Given the description of an element on the screen output the (x, y) to click on. 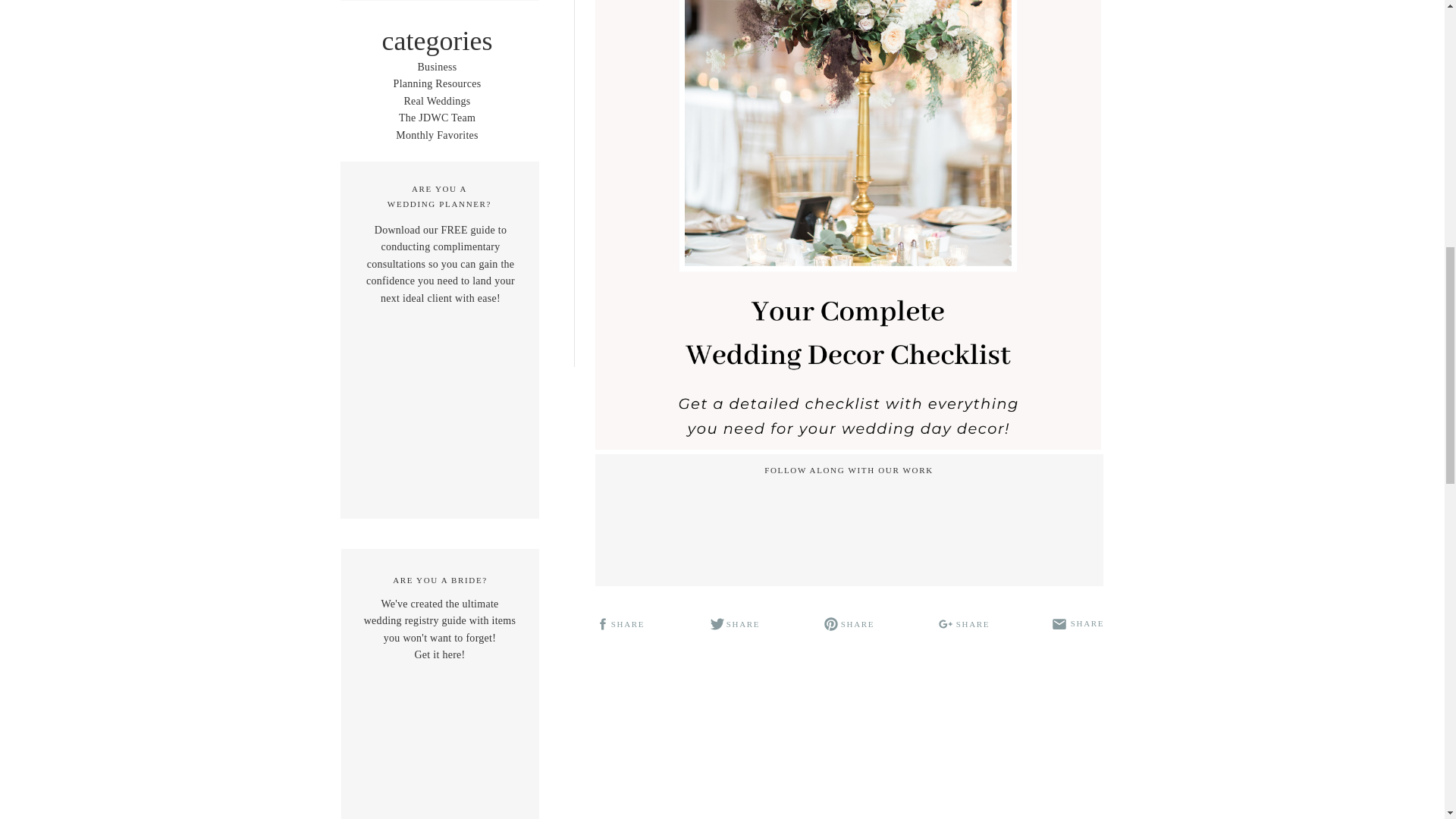
The JDWC Team (437, 117)
Real Weddings (436, 101)
Planning Resources (439, 195)
Business (437, 83)
Monthly Favorites (436, 66)
